Given the description of an element on the screen output the (x, y) to click on. 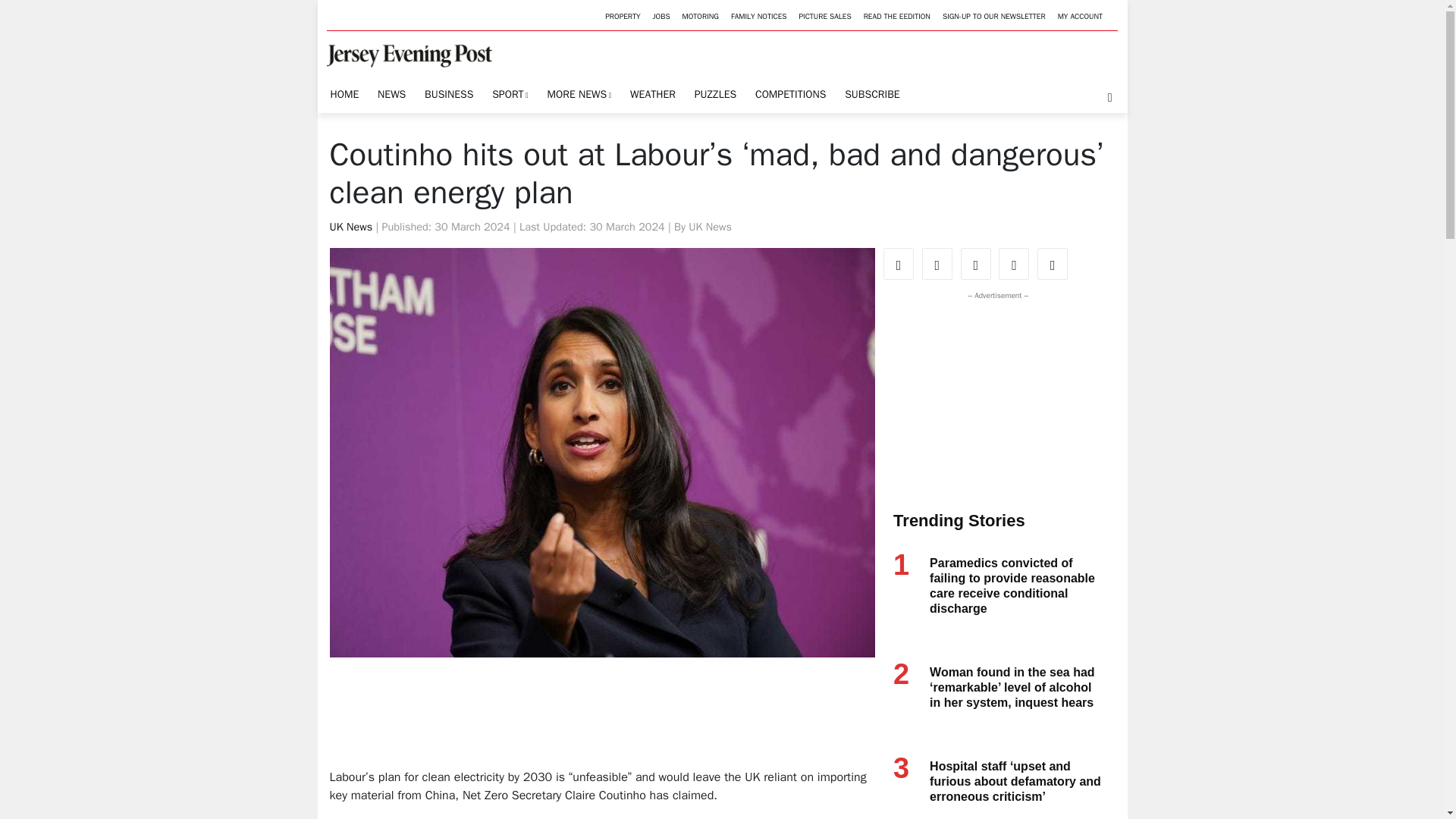
SPORT (509, 94)
COMPETITIONS (790, 94)
FAMILY NOTICES (759, 16)
HOME (344, 94)
JOBS (661, 16)
SUBSCRIBE (871, 94)
SIGN-UP TO OUR NEWSLETTER (993, 16)
3rd party ad content (994, 398)
NEWS (391, 94)
WEATHER (652, 94)
BUSINESS (448, 94)
PUZZLES (714, 94)
MY ACCOUNT (1079, 16)
READ THE EEDITION (896, 16)
PICTURE SALES (824, 16)
